Given the description of an element on the screen output the (x, y) to click on. 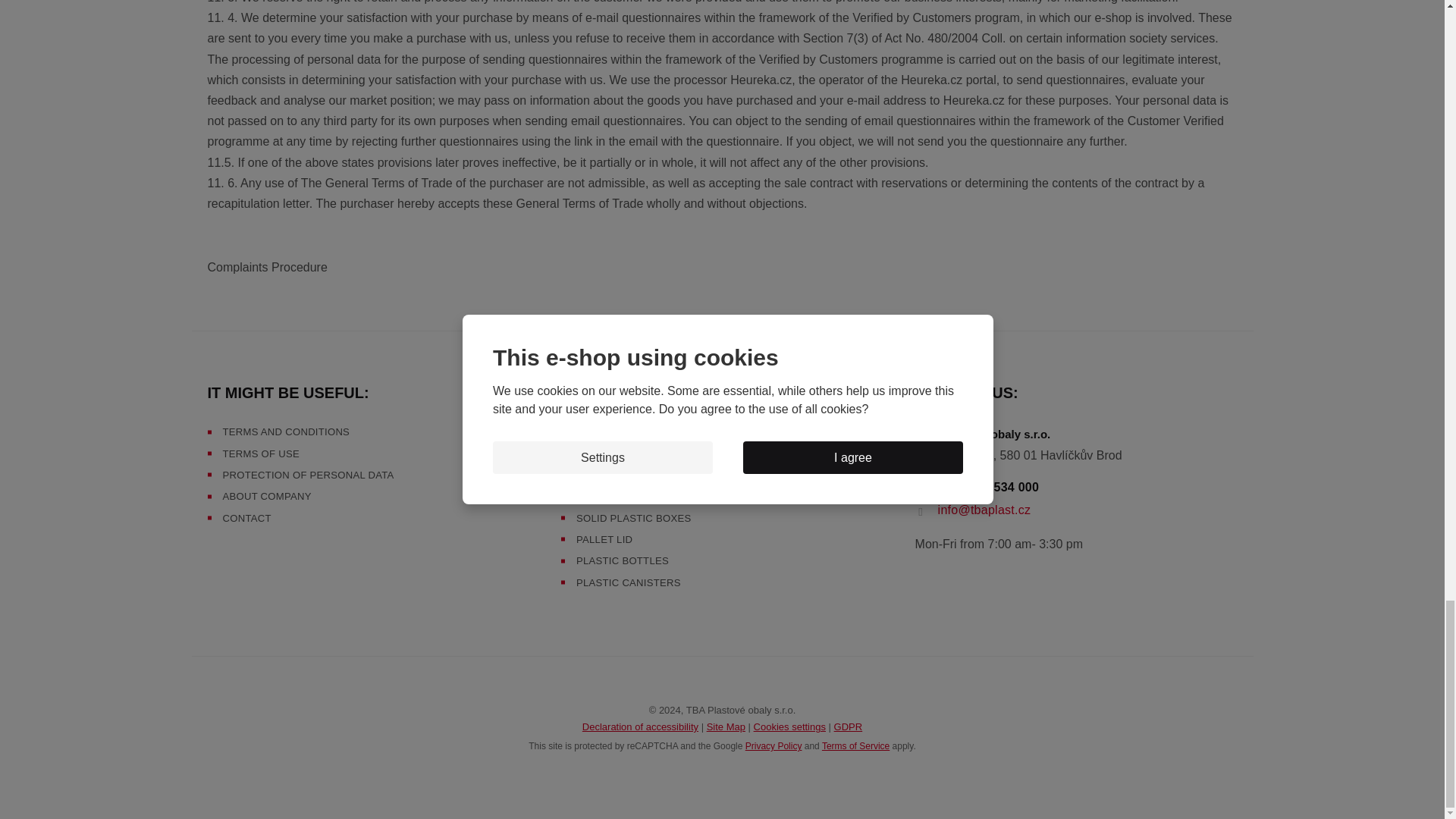
CONTACT (246, 518)
MEAT CRATES (611, 453)
PALLET LID (603, 539)
PLASTIC PALLETS (621, 496)
CRATES FOR FRUIT AND VEGETABLES (672, 474)
Declaration of accessibility (640, 726)
TERMS AND CONDITIONS (286, 431)
PLASTIC EURO CRATES (635, 431)
PROTECTION OF PERSONAL DATA (308, 474)
Complaints Procedure (267, 267)
PLASTIC BOTTLES (622, 560)
Site Map (725, 726)
SOLID PLASTIC BOXES (633, 518)
Cookies settings (789, 726)
ABOUT COMPANY (266, 496)
